Given the description of an element on the screen output the (x, y) to click on. 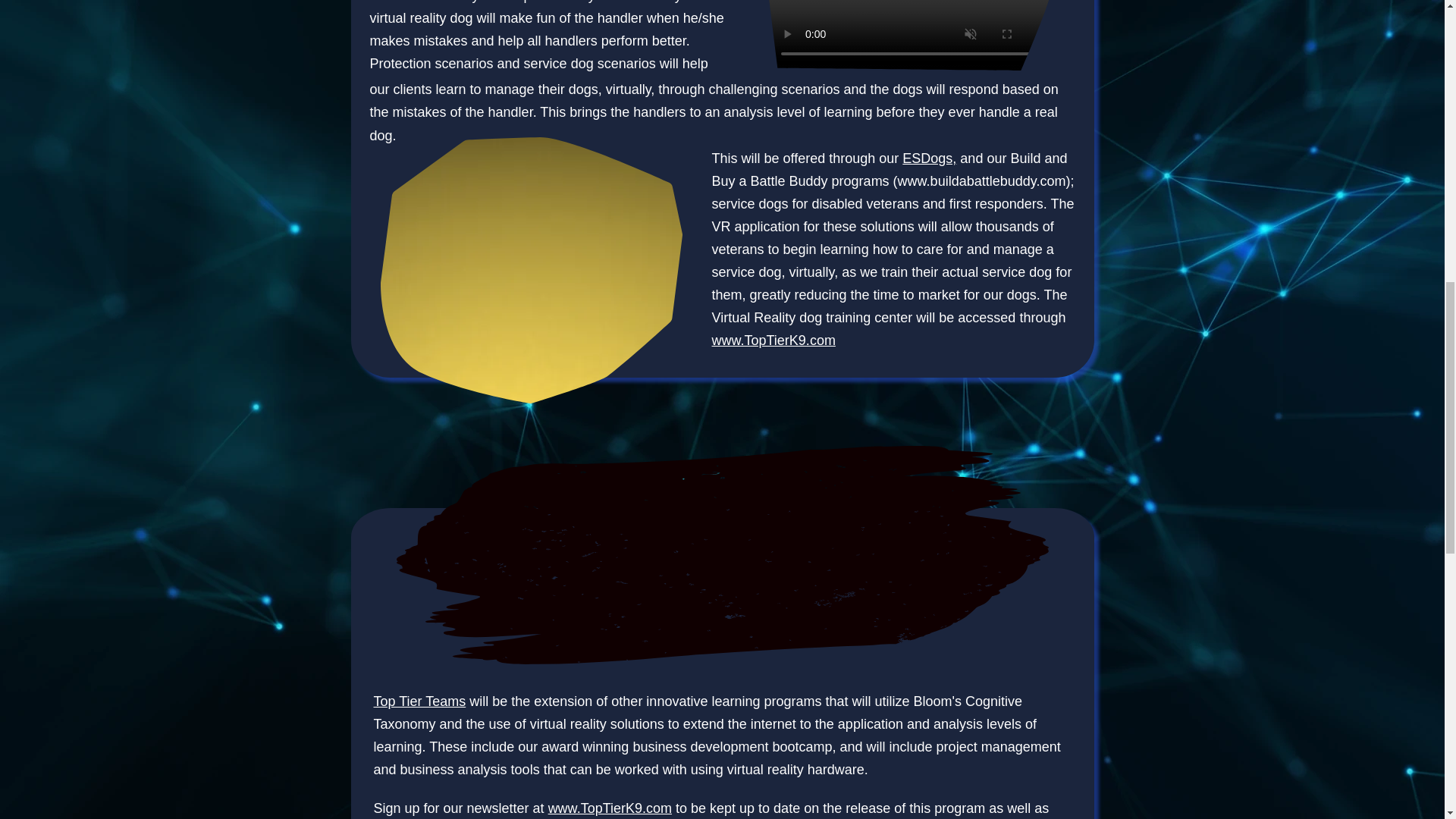
www.TopTierK9.com (609, 807)
www.TopTierK9.com (772, 340)
ESDogs, (929, 158)
Top Tier Teams (418, 701)
